Given the description of an element on the screen output the (x, y) to click on. 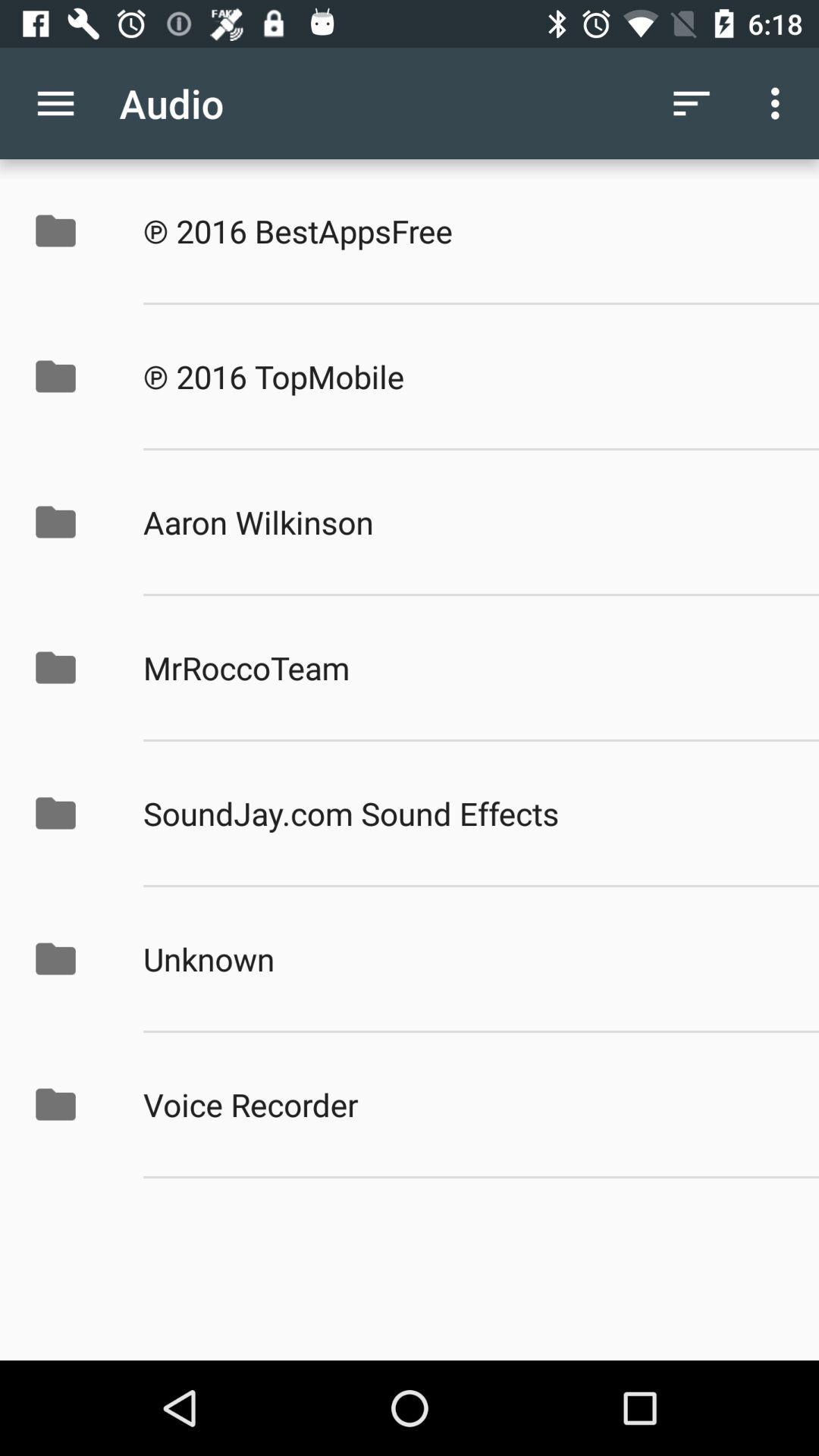
press the item above the aaron wilkinson icon (465, 376)
